Given the description of an element on the screen output the (x, y) to click on. 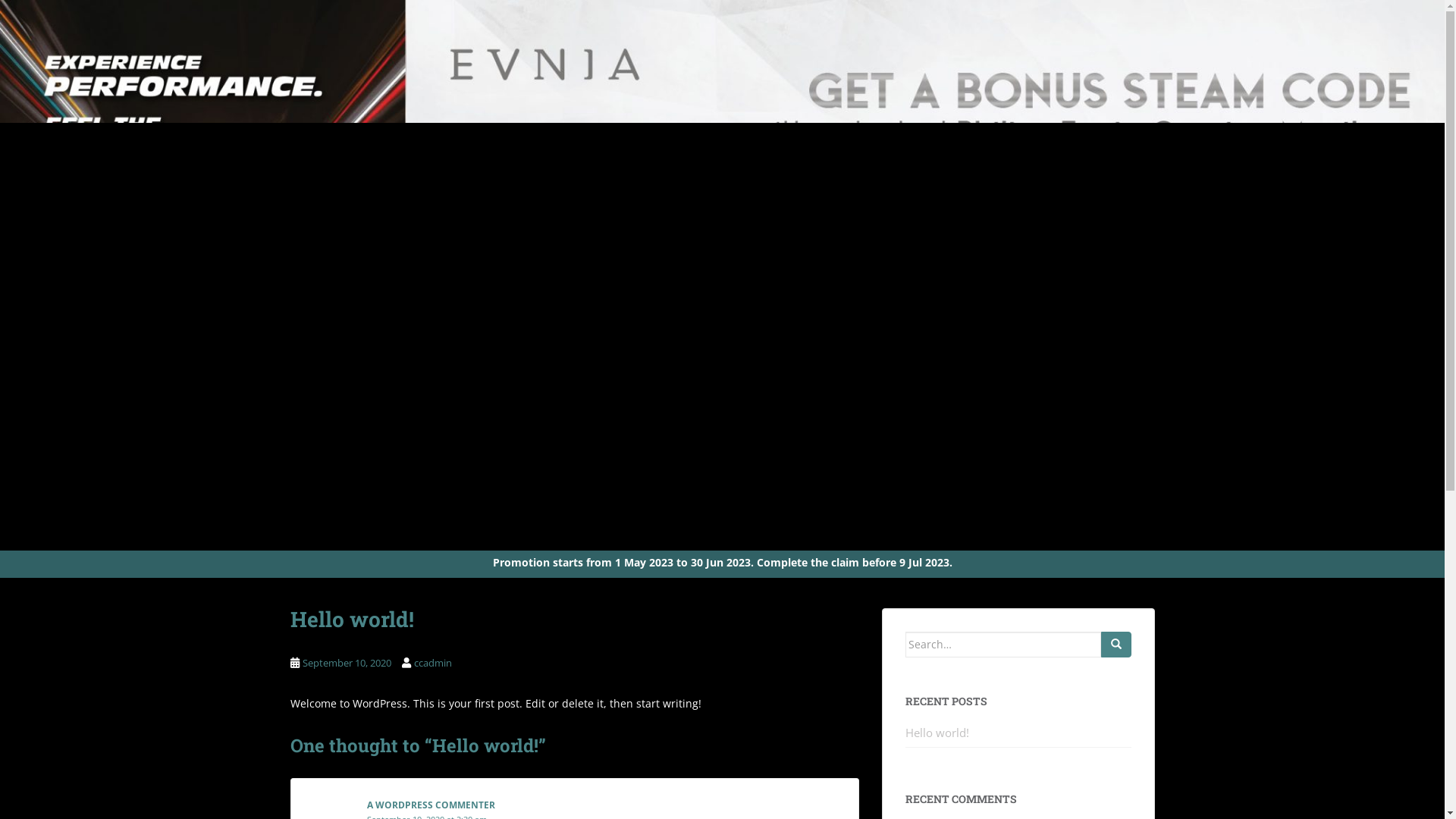
A WORDPRESS COMMENTER Element type: text (431, 804)
Search Element type: text (1116, 644)
Search for: Element type: hover (1003, 644)
Hello world! Element type: text (937, 732)
ccadmin Element type: text (432, 662)
September 10, 2020 Element type: text (345, 662)
